Given the description of an element on the screen output the (x, y) to click on. 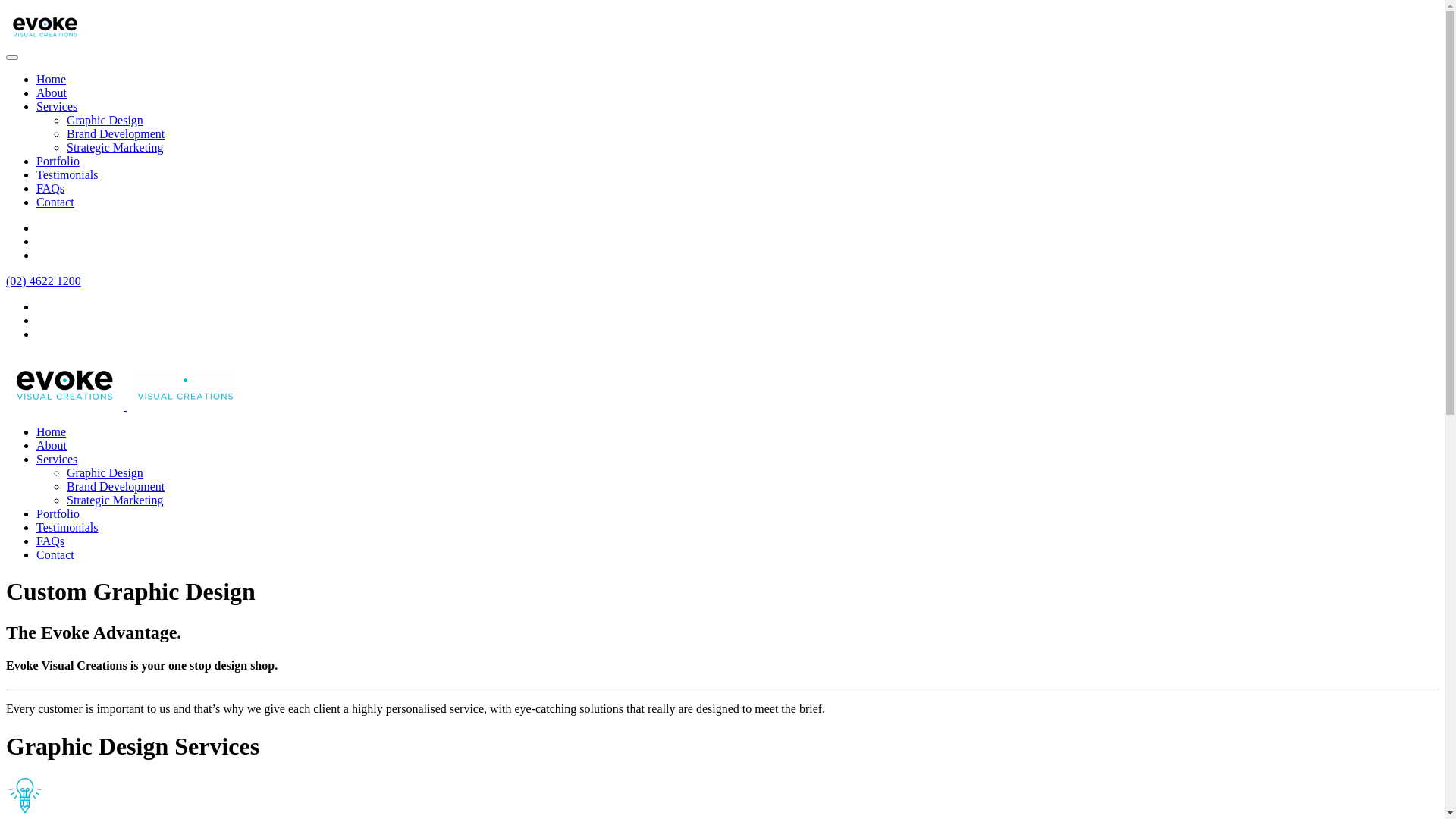
Testimonials Element type: text (67, 526)
Contact Element type: text (55, 554)
Home Element type: text (50, 78)
Graphic Design Element type: text (104, 119)
About Element type: text (51, 92)
Brand Development Element type: text (115, 486)
Services Element type: text (56, 458)
Home Element type: text (50, 431)
Services Element type: text (56, 106)
(02) 4622 1200 Element type: text (43, 280)
Strategic Marketing Element type: text (114, 499)
Brand Development Element type: text (115, 133)
Strategic Marketing Element type: text (114, 147)
Portfolio Element type: text (57, 513)
FAQs Element type: text (50, 188)
Testimonials Element type: text (67, 174)
Graphic Design Element type: text (104, 472)
About Element type: text (51, 445)
Portfolio Element type: text (57, 160)
Contact Element type: text (55, 201)
FAQs Element type: text (50, 540)
